Given the description of an element on the screen output the (x, y) to click on. 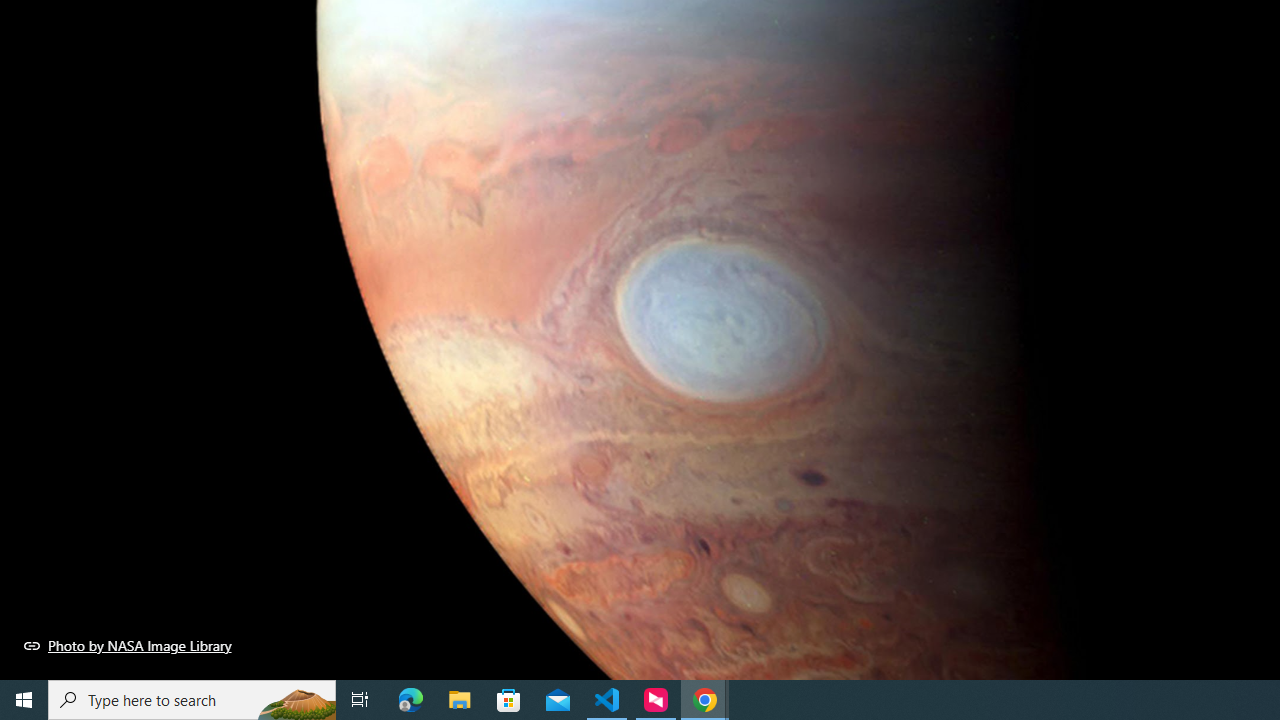
Photo by NASA Image Library (127, 645)
